Given the description of an element on the screen output the (x, y) to click on. 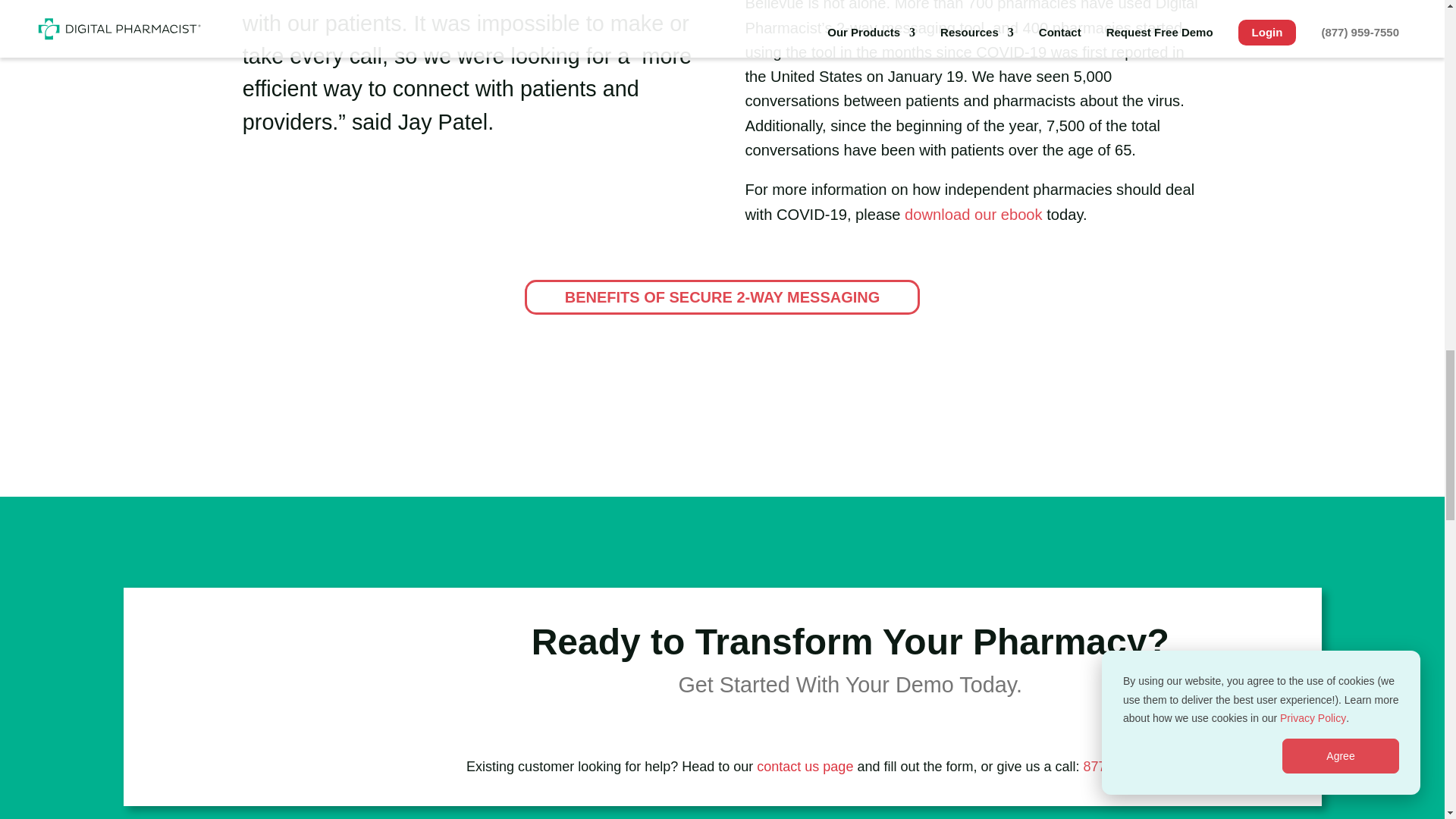
contact us page (805, 766)
BENEFITS OF SECURE 2-WAY MESSAGING (722, 297)
download our ebook (973, 214)
